Given the description of an element on the screen output the (x, y) to click on. 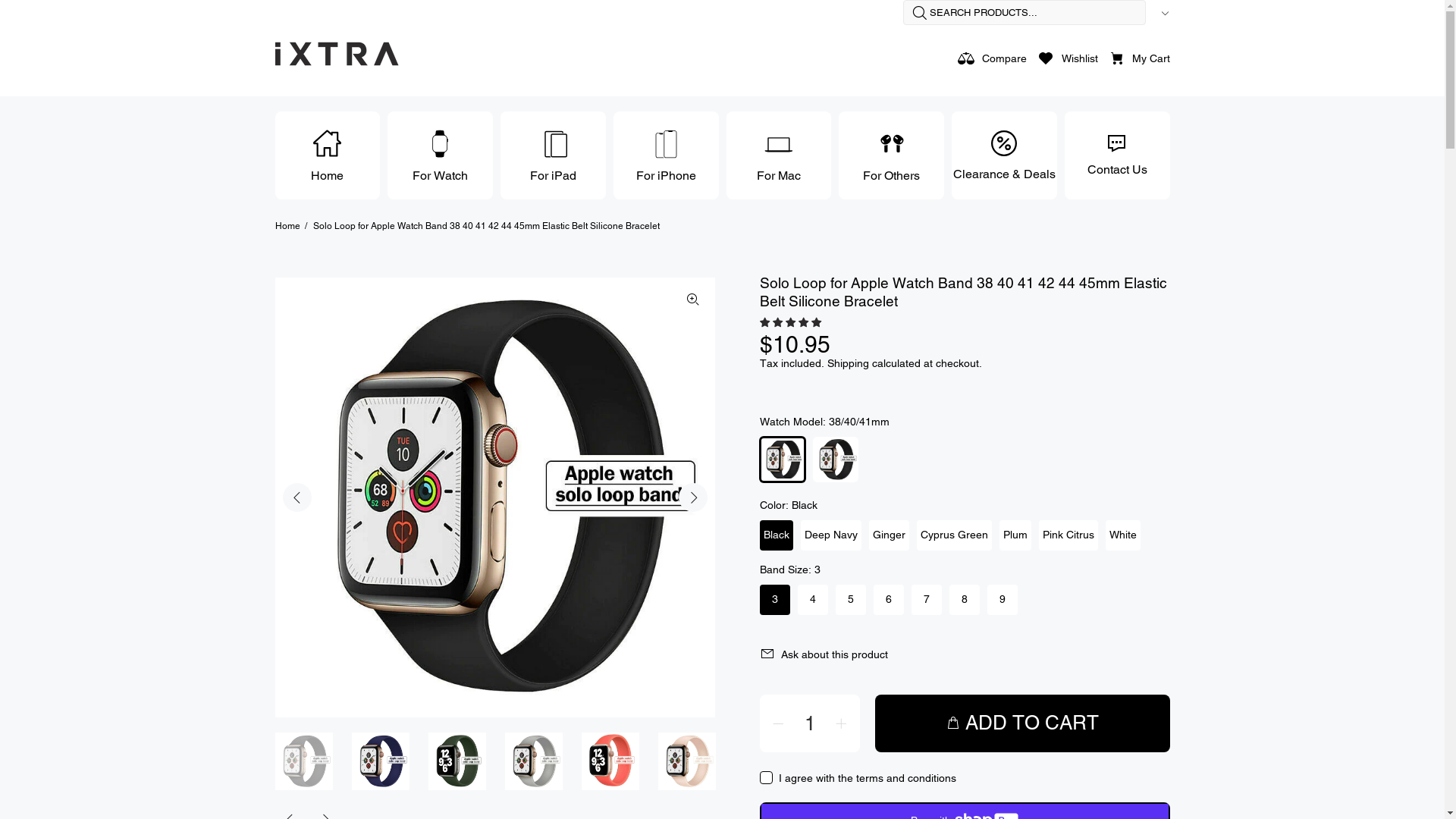
For Others Element type: text (891, 155)
For Mac Element type: text (778, 155)
4 Element type: text (812, 599)
Home Element type: text (326, 155)
ADD TO CART Element type: text (1022, 723)
Deep Navy Element type: text (830, 535)
7 Element type: text (926, 599)
Shipping Element type: text (847, 363)
Plum Element type: text (1015, 535)
8 Element type: text (964, 599)
Ginger Element type: text (889, 535)
Black Element type: text (776, 535)
5 Element type: text (850, 599)
9 Element type: text (1002, 599)
Previous Element type: text (296, 497)
3 Element type: text (774, 599)
White Element type: text (1122, 535)
For iPad Element type: text (552, 155)
Pink Citrus Element type: text (1068, 535)
6 Element type: text (888, 599)
Home Element type: text (286, 225)
For Watch Element type: text (439, 155)
Clearance & Deals Element type: text (1004, 155)
Wishlist Element type: text (1067, 58)
Ask about this product Element type: text (828, 654)
Next Element type: text (691, 497)
For iPhone Element type: text (665, 155)
Cyprus Green Element type: text (953, 535)
My Cart Element type: text (1135, 58)
Compare Element type: text (991, 58)
Contact Us Element type: text (1117, 155)
